Given the description of an element on the screen output the (x, y) to click on. 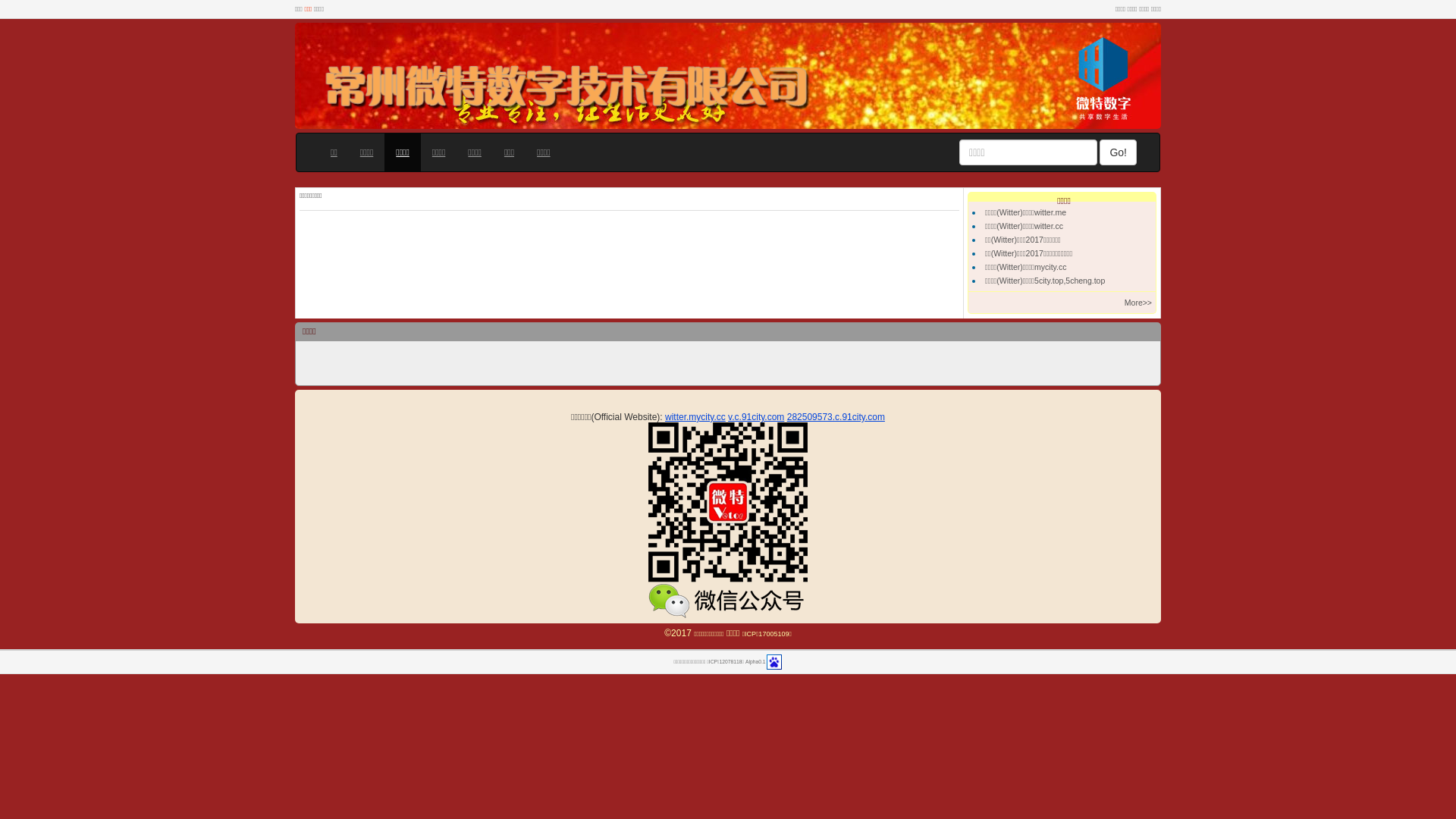
More>> Element type: text (1137, 302)
v.c.91city.com Element type: text (756, 416)
witter.mycity.cc Element type: text (695, 416)
Go! Element type: text (1117, 152)
282509573.c.91city.com Element type: text (835, 416)
